Given the description of an element on the screen output the (x, y) to click on. 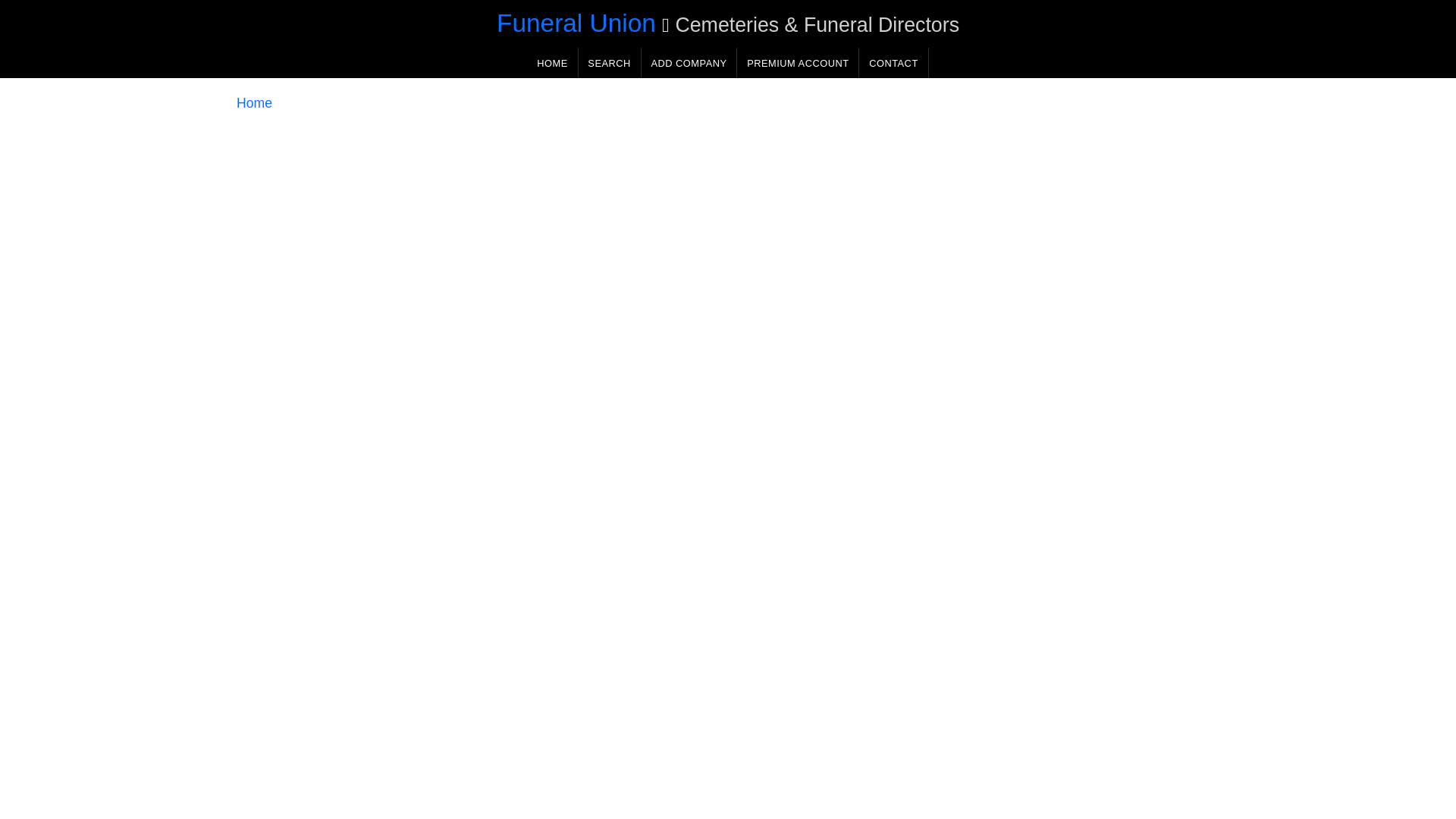
PREMIUM ACCOUNT (797, 62)
Premium account (797, 62)
Home (253, 102)
SEARCH (609, 62)
HOME (551, 62)
CONTACT (893, 62)
Search in this webseite. (609, 62)
Funeral Union (576, 22)
ADD COMPANY (689, 62)
Add a new company (689, 62)
